Given the description of an element on the screen output the (x, y) to click on. 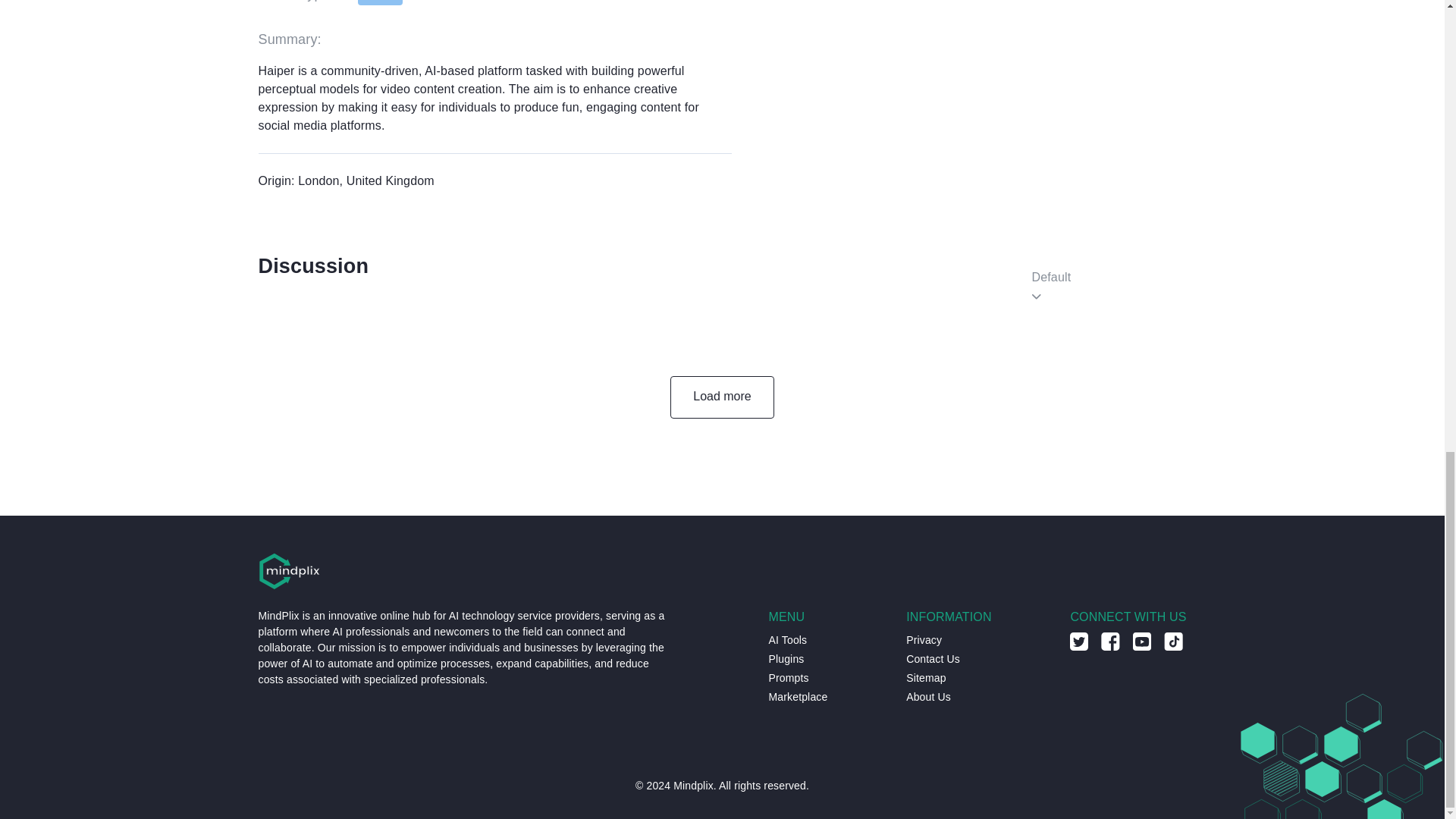
Sitemap (924, 678)
Contact Us (932, 659)
Video (380, 2)
About Us (927, 697)
Load more (721, 396)
AI Tools (788, 640)
Marketplace (798, 697)
Prompts (788, 678)
Default (1108, 277)
Privacy (923, 640)
